Given the description of an element on the screen output the (x, y) to click on. 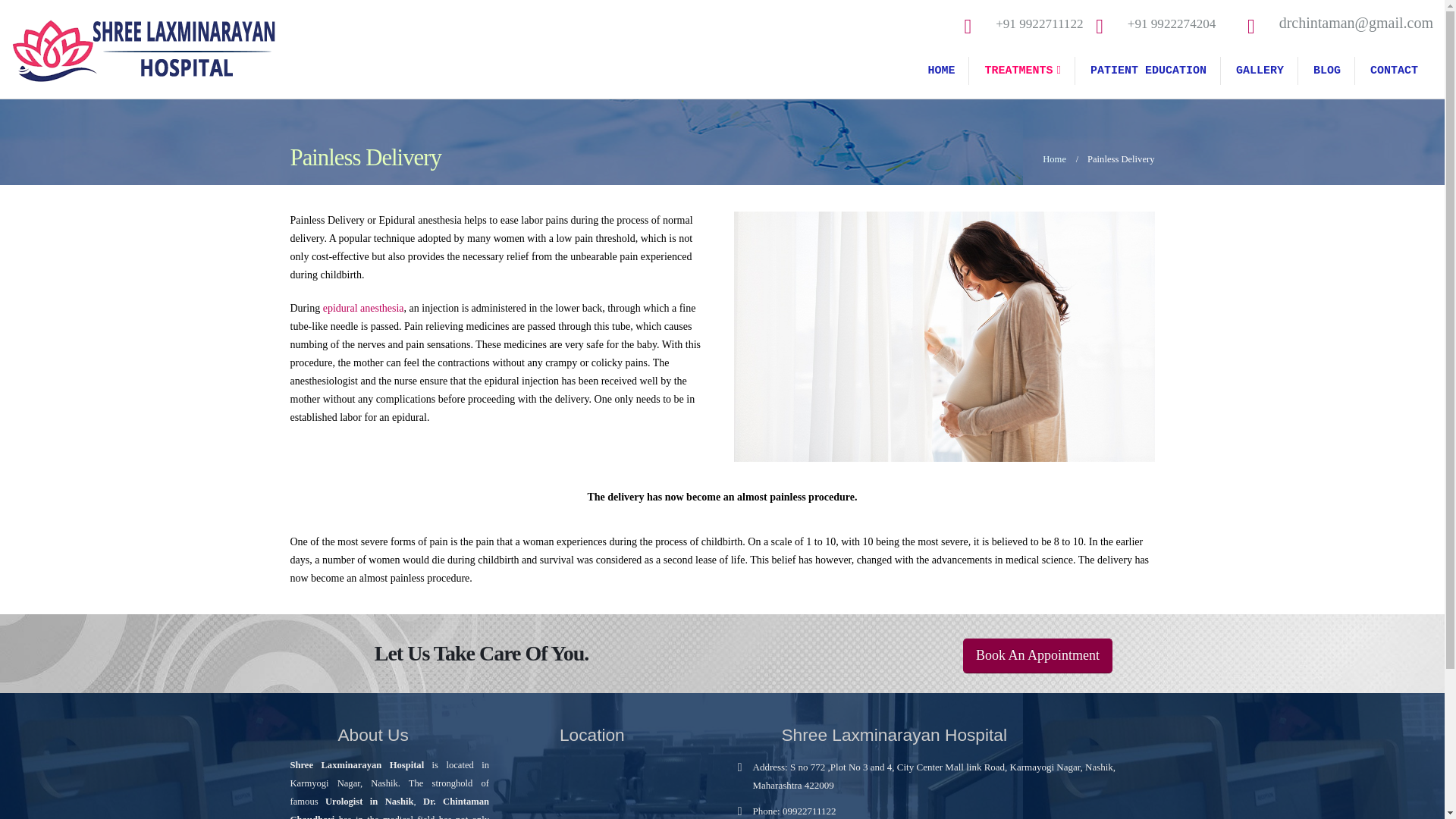
TREATMENTS (1023, 70)
HOME (941, 70)
Go to Home Page (1053, 158)
Dr Chintaman Chaudhari - Consultant Urosurgeon (143, 48)
CONTACT (1393, 70)
BLOG (1327, 70)
GALLERY (1260, 70)
PATIENT EDUCATION (1149, 70)
